Given the description of an element on the screen output the (x, y) to click on. 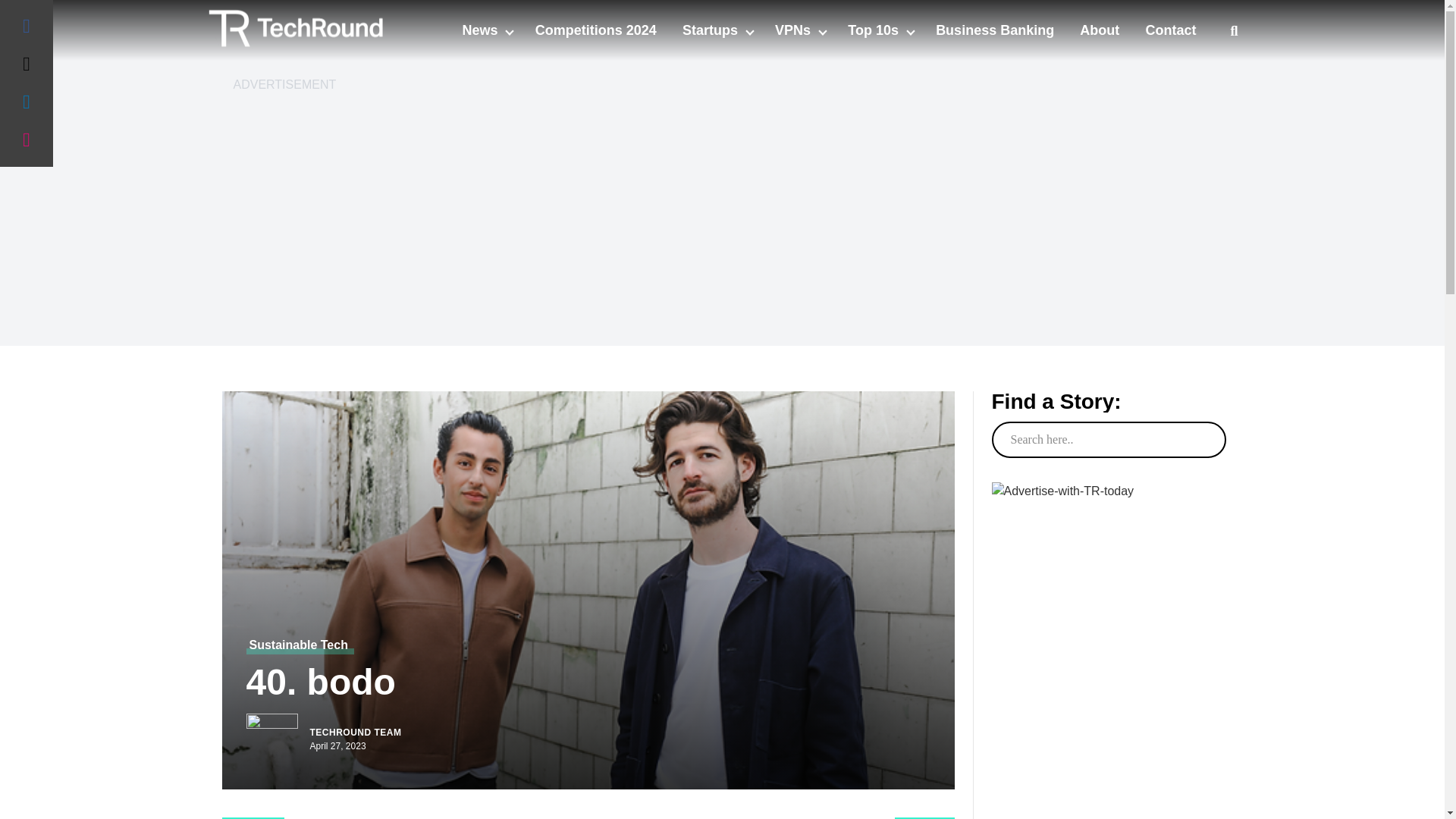
Advertisement (1107, 777)
